Given the description of an element on the screen output the (x, y) to click on. 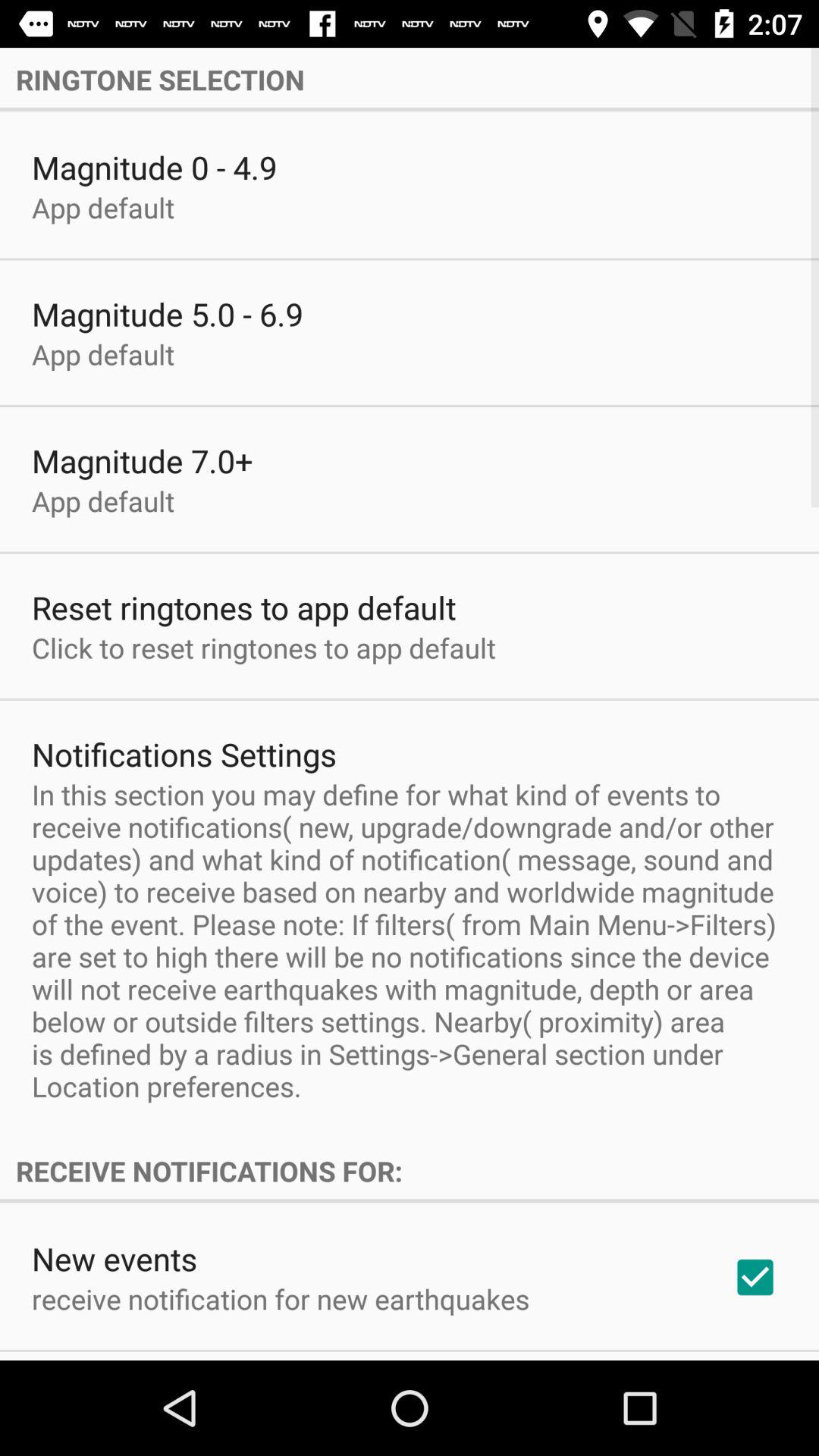
choose item at the center (409, 940)
